Given the description of an element on the screen output the (x, y) to click on. 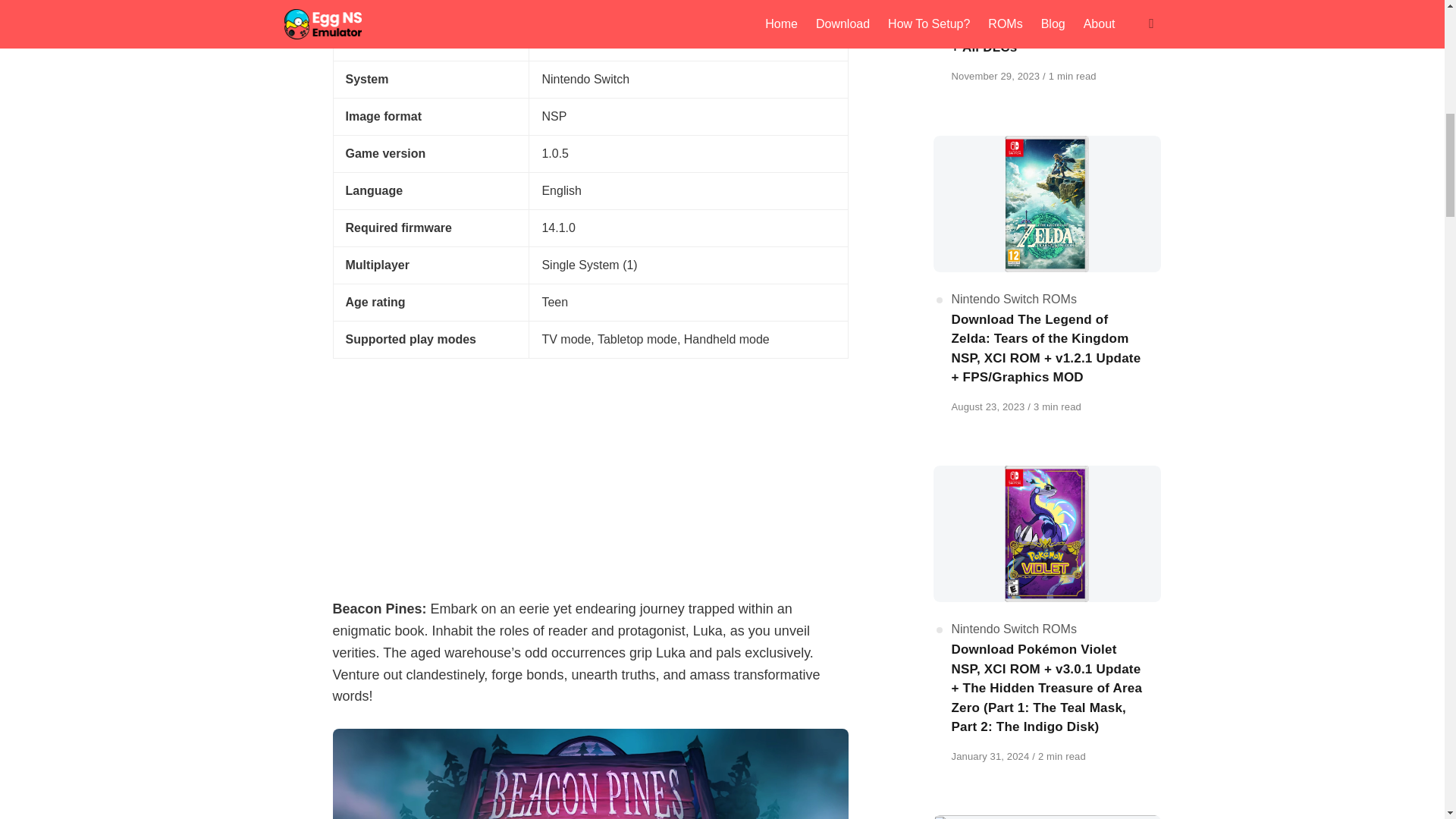
Nintendo Switch ROMs (1012, 628)
January 31, 2024 (991, 756)
Nintendo Switch ROMs (1012, 298)
August 23, 2023 (988, 406)
Advertisement (589, 470)
November 29, 2023 (996, 75)
